Given the description of an element on the screen output the (x, y) to click on. 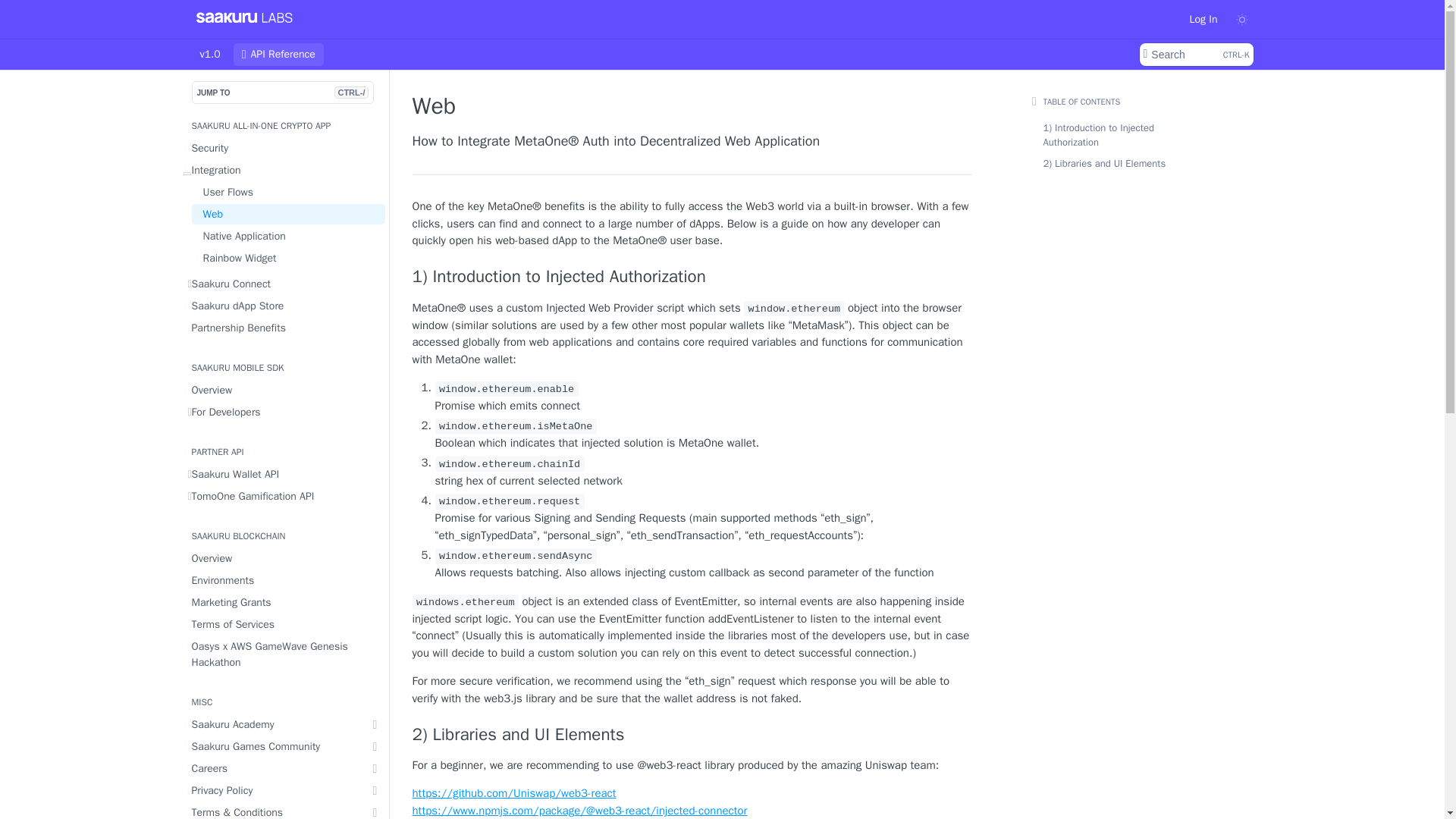
Overview (282, 390)
Web (287, 213)
Saakuru dApp Store (282, 305)
Log In (1202, 18)
Partnership Benefits (282, 327)
Rainbow Widget (287, 258)
User Flows (287, 191)
Integration (282, 169)
Native Application (287, 236)
Saakuru Wallet API (282, 474)
API Reference (277, 54)
Saakuru Connect (282, 283)
For Developers (282, 412)
Security (1195, 54)
